Given the description of an element on the screen output the (x, y) to click on. 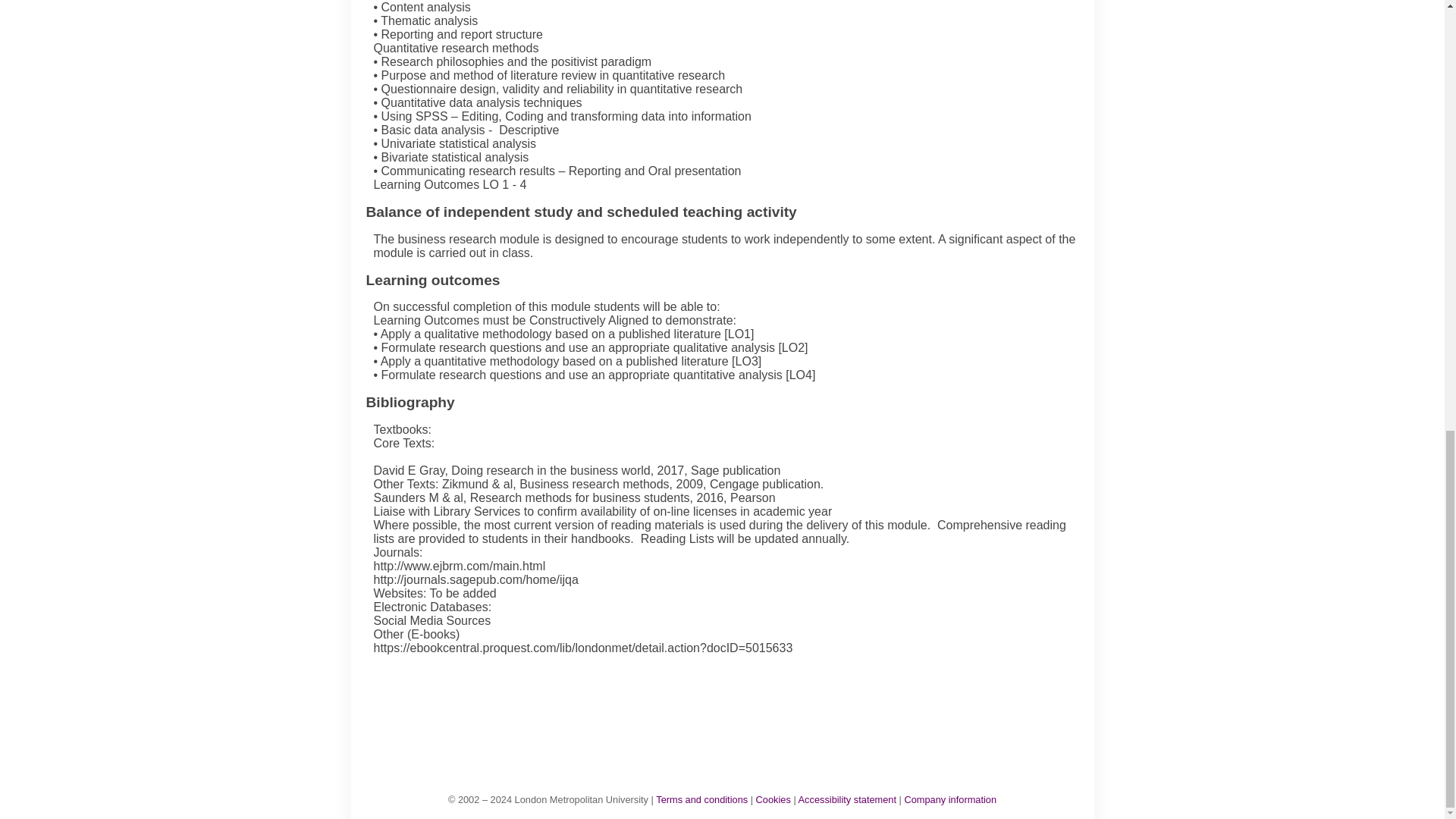
Company information (949, 799)
Cookies (772, 799)
Accessibility statement (846, 799)
Terms and conditions (702, 799)
Advertisement (729, 708)
Company information (949, 799)
Terms and conditions (702, 799)
Accessibility statement (846, 799)
Cookies (772, 799)
